Given the description of an element on the screen output the (x, y) to click on. 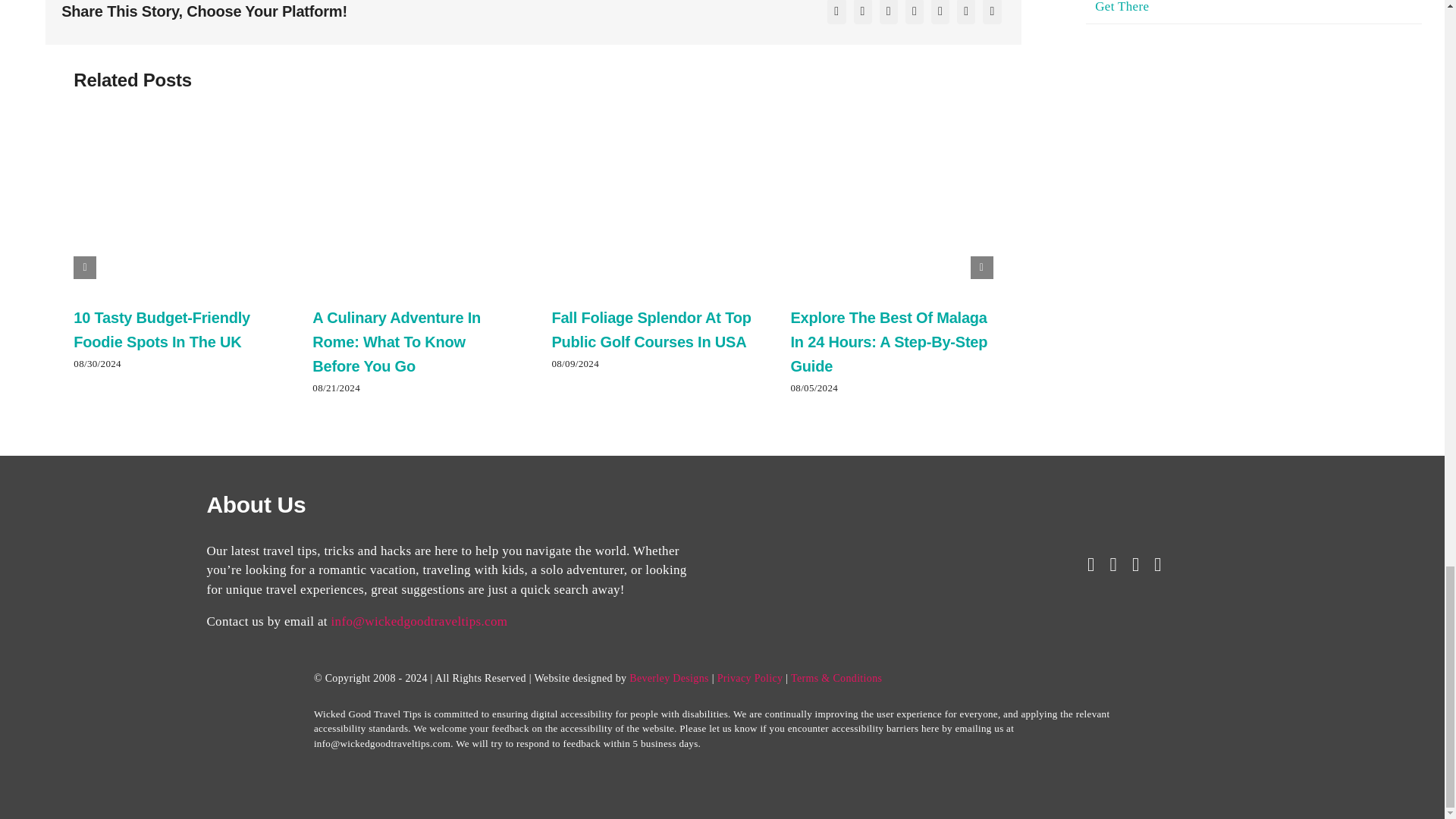
Explore The Best of Malaga in 24 Hours: A Step-by-Step Guide (888, 341)
A Culinary Adventure in Rome: What To Know Before You Go (396, 341)
WhatsApp (940, 13)
Facebook (836, 13)
LinkedIn (914, 13)
Telegram (965, 13)
Fall Foliage Splendor at Top Public Golf Courses in USA (651, 329)
Reddit (888, 13)
10 Tasty Budget-Friendly Foodie Spots in the UK (162, 329)
Pinterest (991, 13)
